Given the description of an element on the screen output the (x, y) to click on. 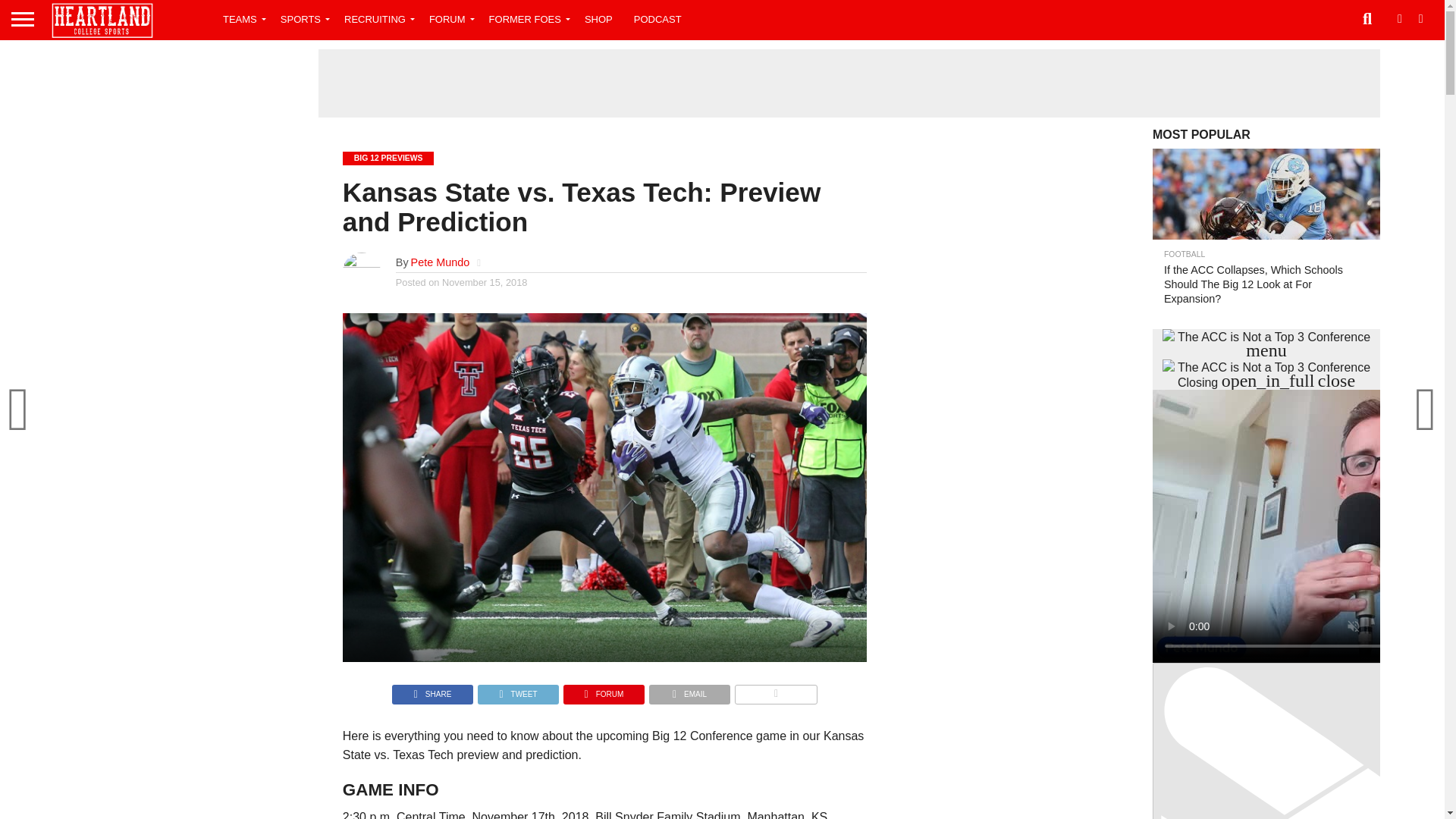
Members Forum (449, 18)
Share on Facebook (432, 689)
Posts by Pete Mundo (440, 262)
3rd party ad content (849, 83)
Tweet This Post (518, 689)
